Given the description of an element on the screen output the (x, y) to click on. 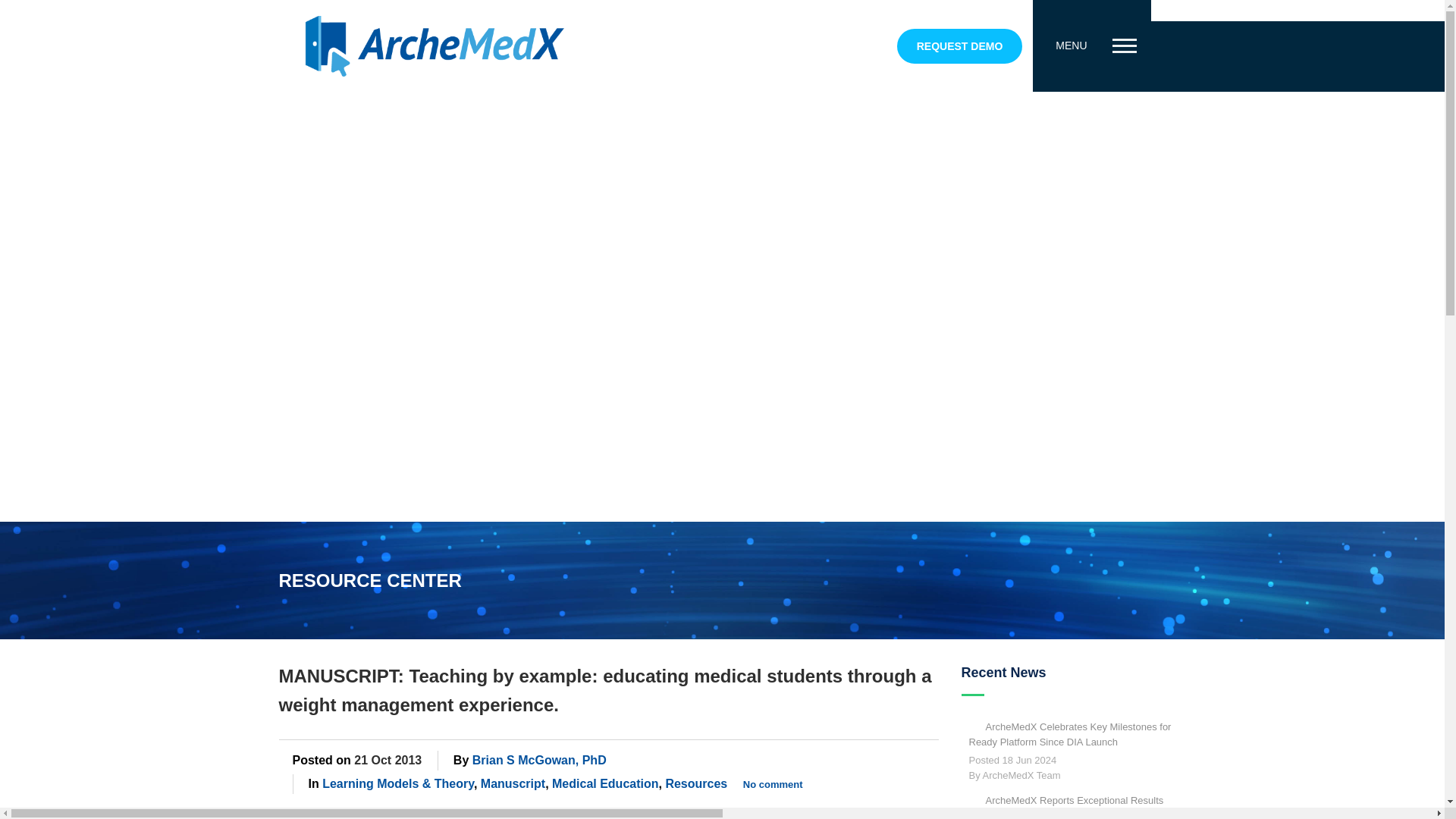
Brian S McGowan, PhD (539, 759)
No comment (772, 784)
REQUEST DEMO (959, 45)
Manuscript (512, 783)
Resources (695, 783)
Medical Education (604, 783)
